Given the description of an element on the screen output the (x, y) to click on. 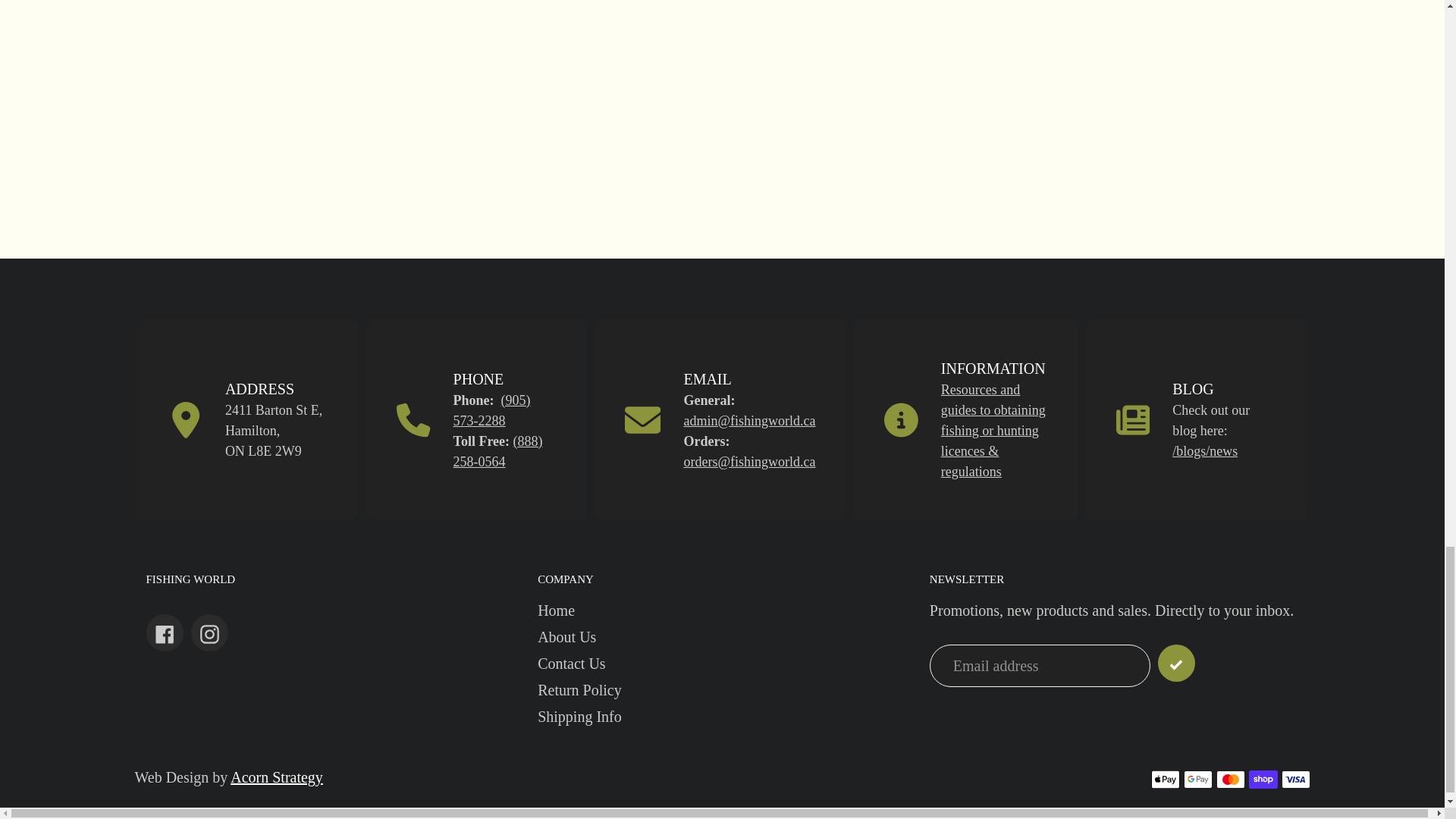
Information (992, 430)
Blog (1204, 450)
